Given the description of an element on the screen output the (x, y) to click on. 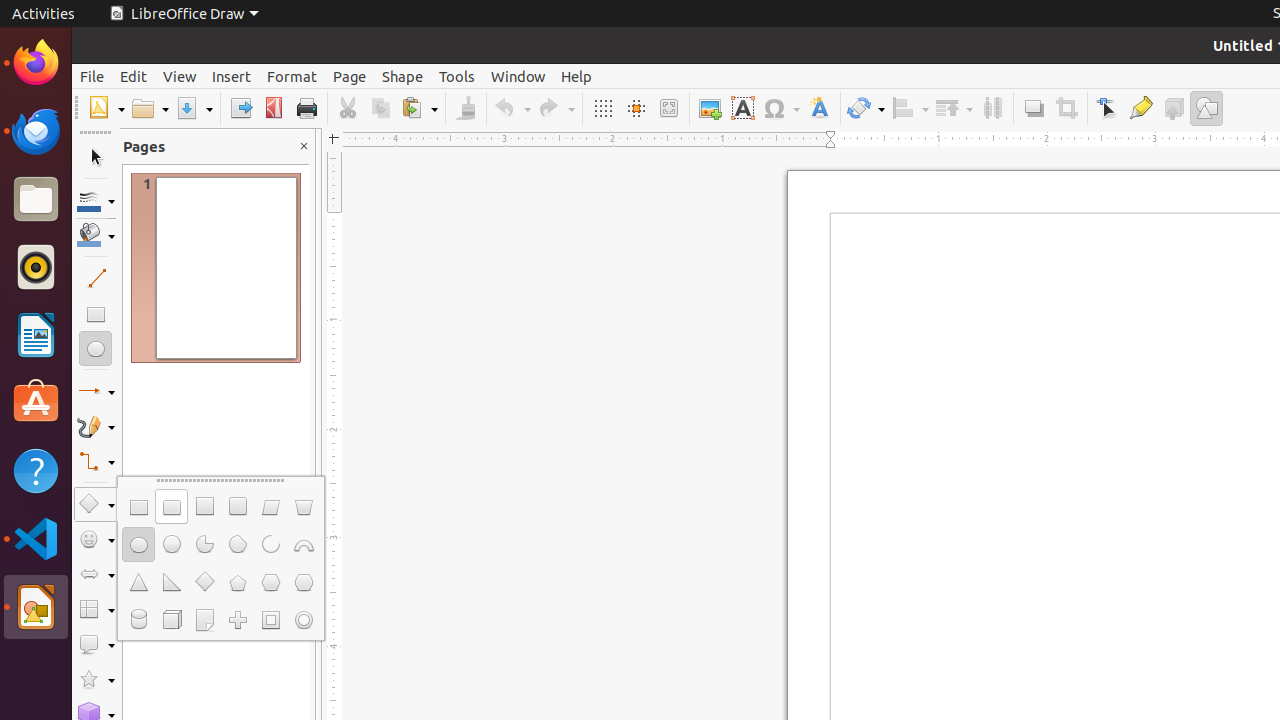
Page Element type: menu (349, 76)
